Given the description of an element on the screen output the (x, y) to click on. 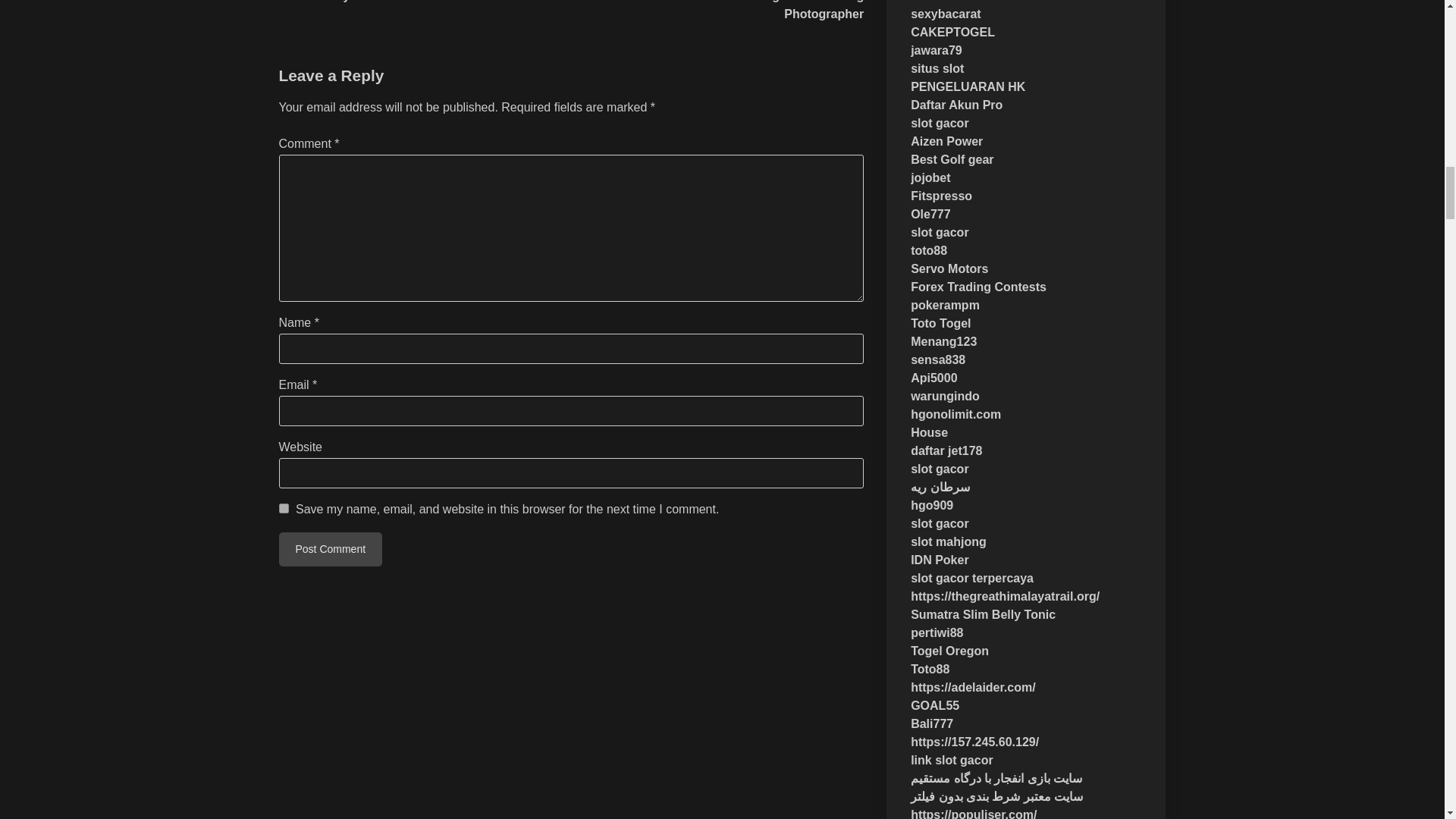
Post Comment (330, 549)
yes (283, 508)
Post Comment (330, 549)
jojobet (930, 177)
